Given the description of an element on the screen output the (x, y) to click on. 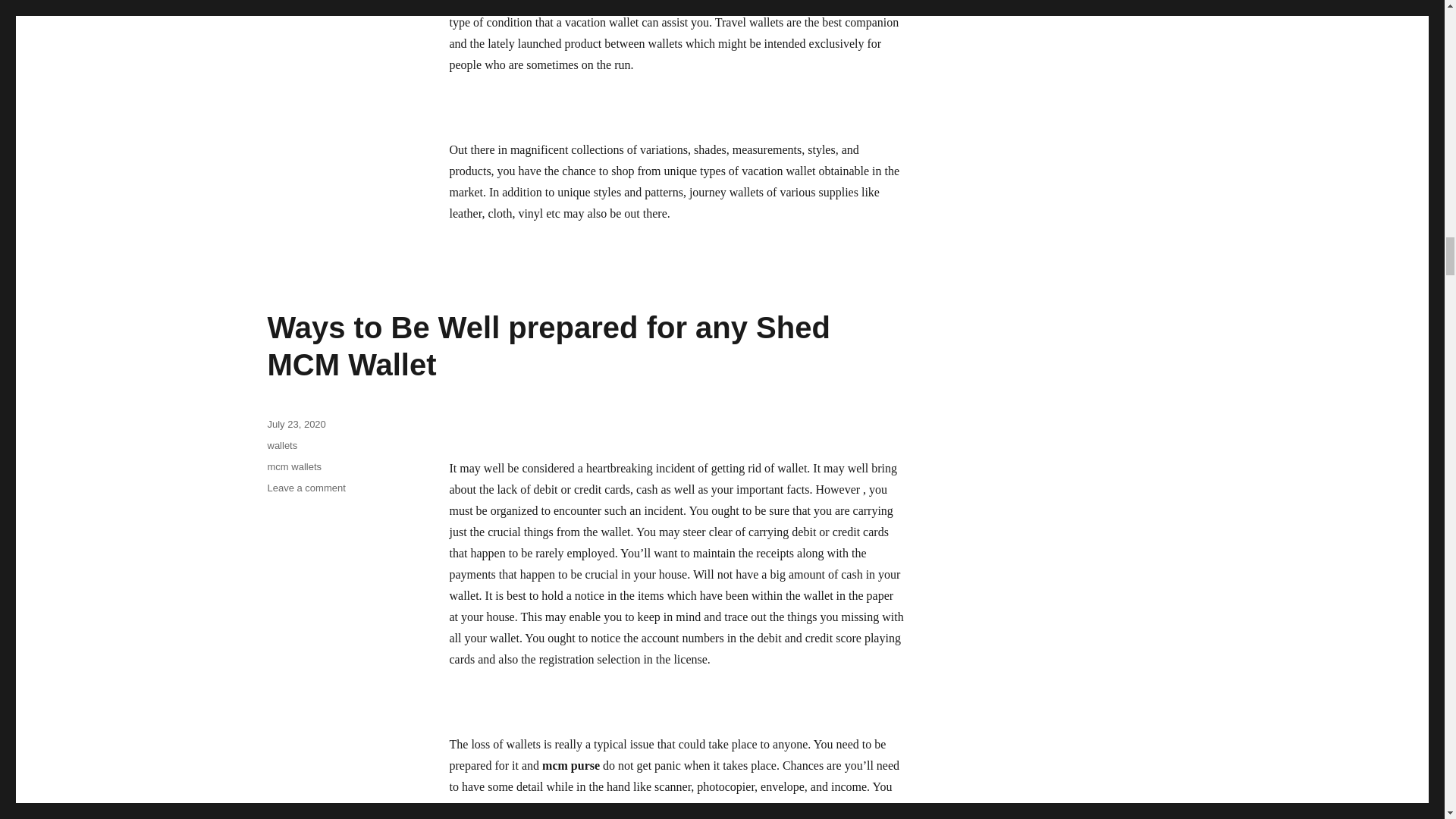
July 23, 2020 (295, 423)
Ways to Be Well prepared for any Shed MCM Wallet (547, 346)
wallets (281, 445)
mcm wallets (293, 466)
